Given the description of an element on the screen output the (x, y) to click on. 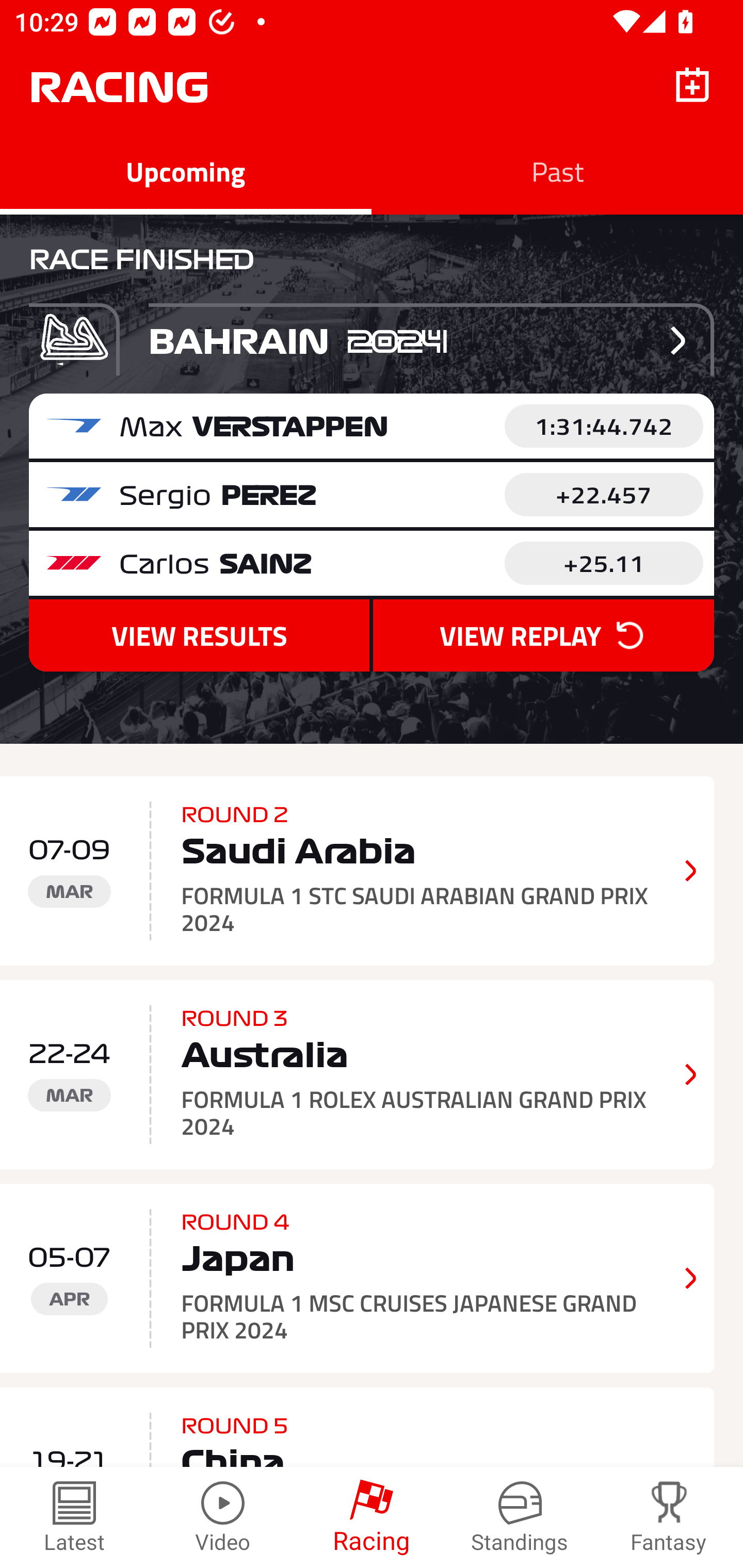
Past (557, 171)
VIEW RESULTS (198, 634)
VIEW REPLAY (543, 634)
Latest (74, 1517)
Video (222, 1517)
Standings (519, 1517)
Fantasy (668, 1517)
